Given the description of an element on the screen output the (x, y) to click on. 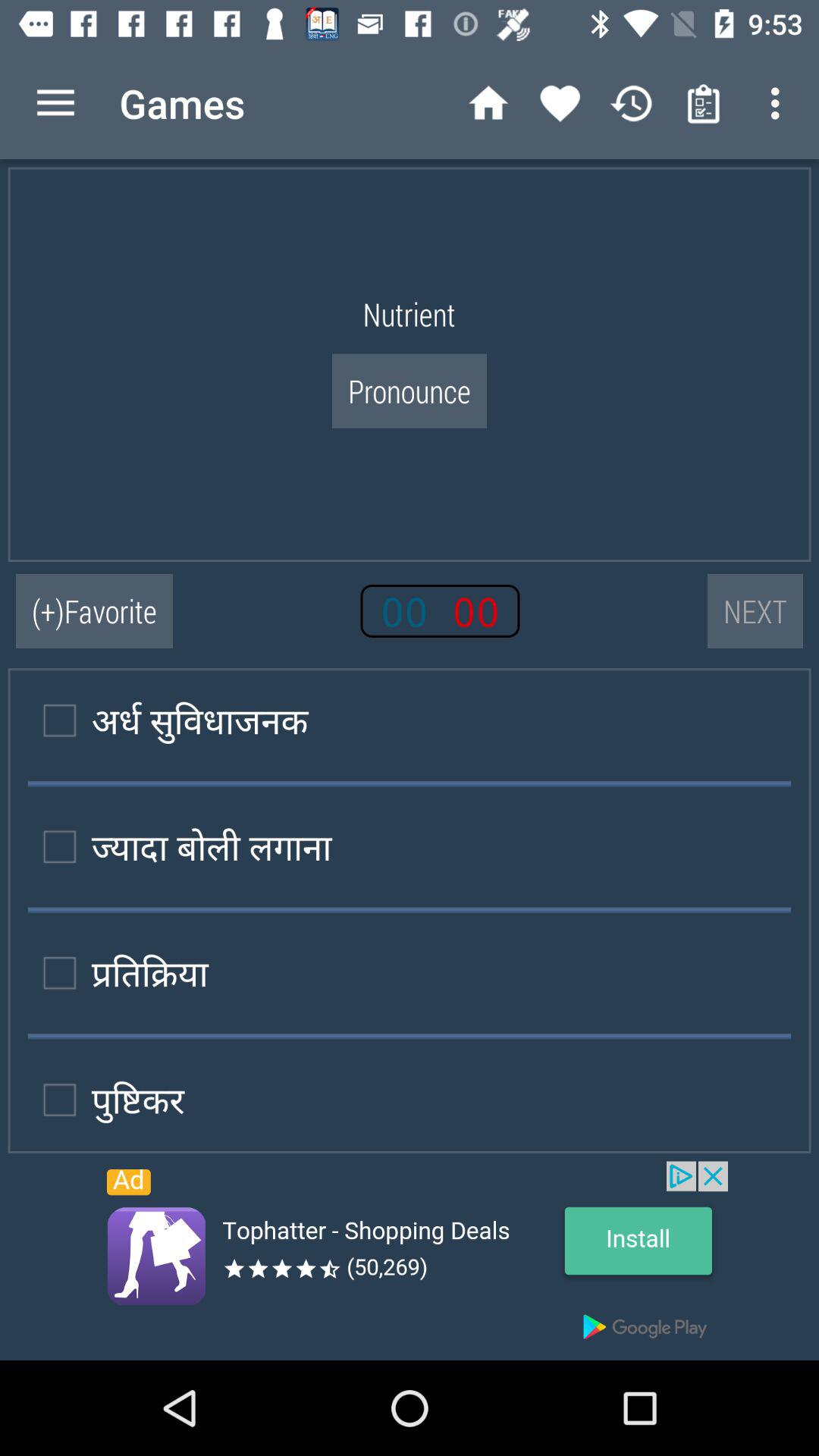
open advertisement (409, 1260)
